Given the description of an element on the screen output the (x, y) to click on. 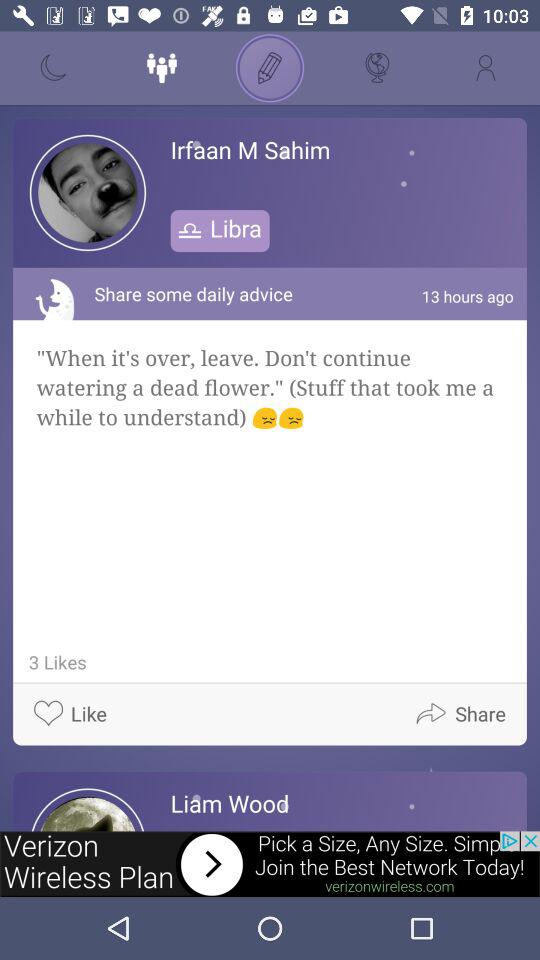
advertisement (270, 864)
